Given the description of an element on the screen output the (x, y) to click on. 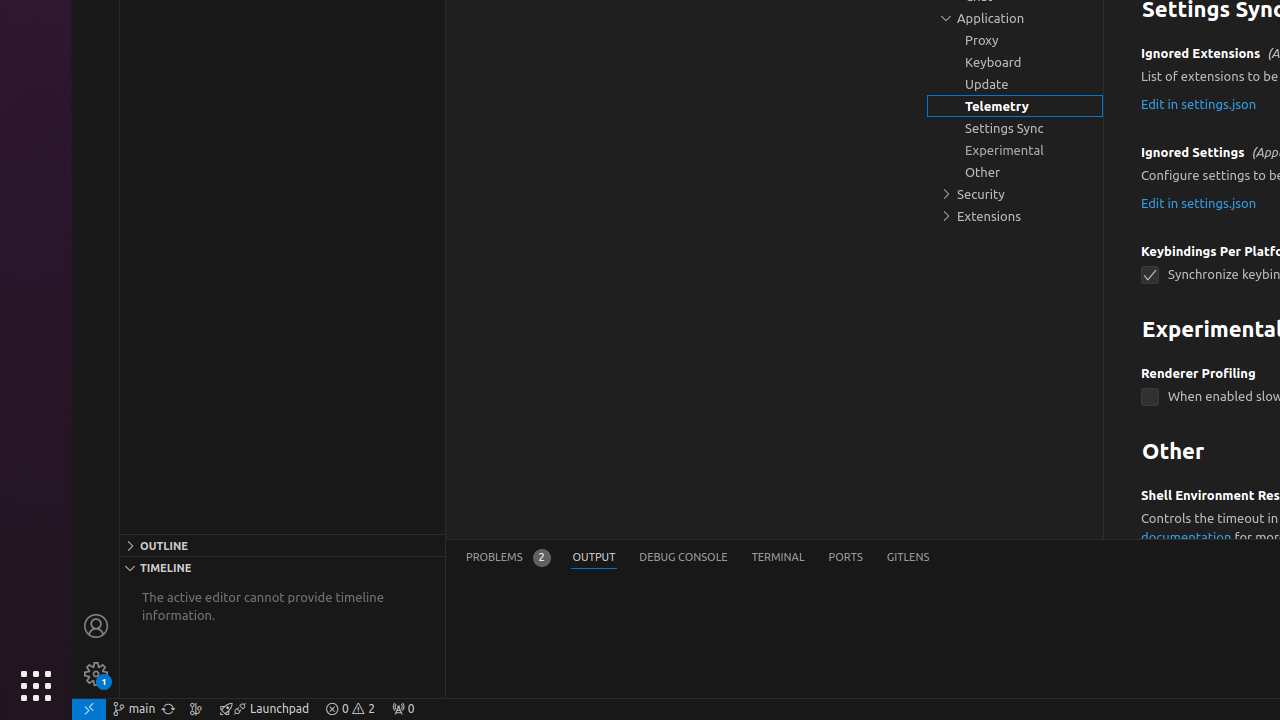
Show the GitLens Commit Graph Element type: push-button (196, 709)
Accounts Element type: push-button (96, 626)
Timeline Section Element type: push-button (282, 567)
rocket gitlens-unplug Launchpad, GitLens Launchpad ᴘʀᴇᴠɪᴇᴡ    &mdash;    [$(question)](command:gitlens.launchpad.indicator.action?%22info%22 "What is this?") [$(gear)](command:workbench.action.openSettings?%22gitlens.launchpad%22 "Settings")  |  [$(circle-slash) Hide](command:gitlens.launchpad.indicator.action?%22hide%22 "Hide") --- [Launchpad](command:gitlens.launchpad.indicator.action?%info%22 "Learn about Launchpad") organizes your pull requests into actionable groups to help you focus and keep your team unblocked. It's always accessible using the `GitLens: Open Launchpad` command from the Command Palette. --- [Connect an integration](command:gitlens.showLaunchpad?%7B%22source%22%3A%22launchpad-indicator%22%7D "Connect an integration") to get started. Element type: push-button (264, 709)
Edit in settings.json: settingsSync.ignoredSettings Element type: push-button (1199, 202)
